Given the description of an element on the screen output the (x, y) to click on. 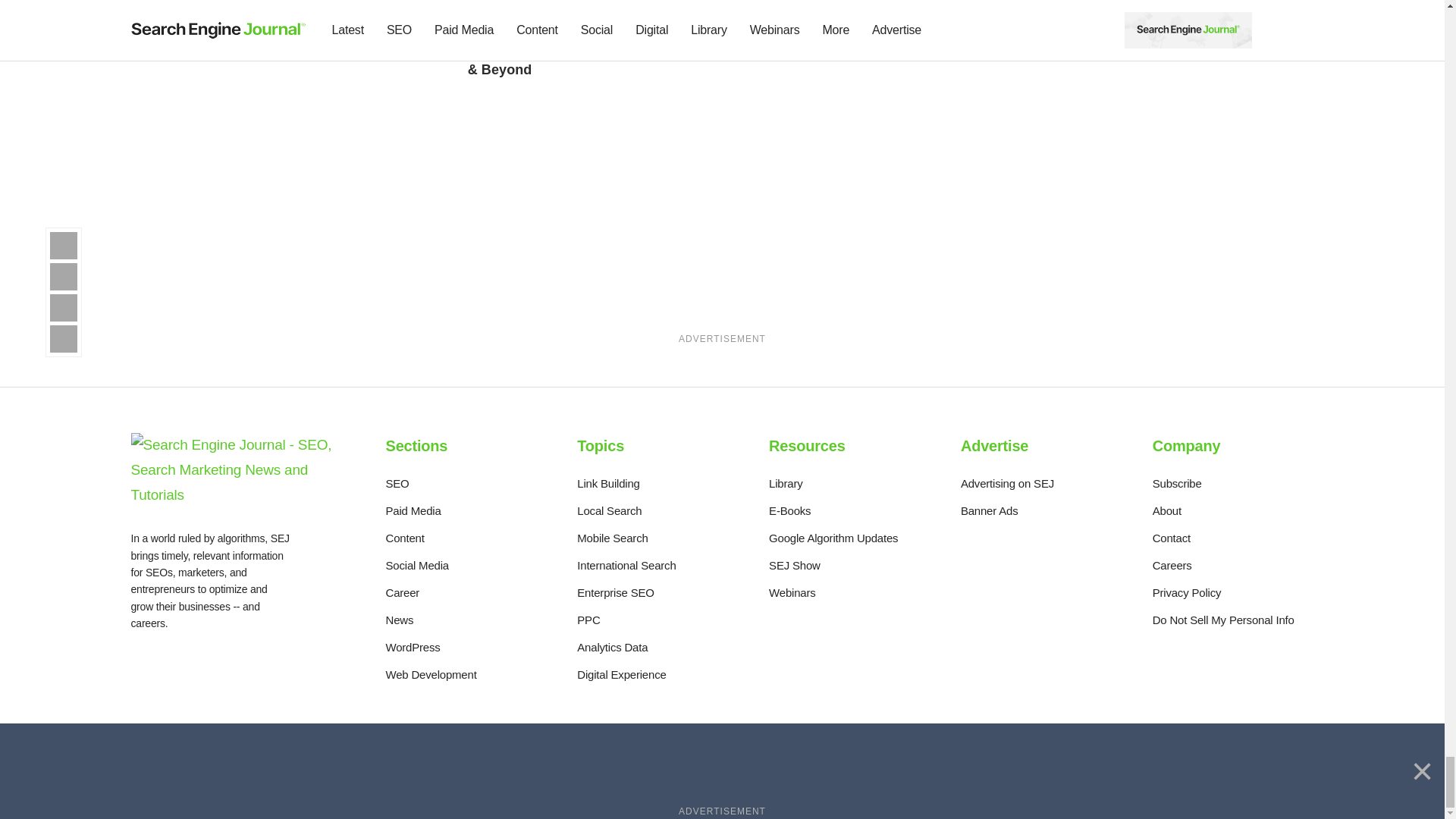
Read the Article (548, 45)
Read the Article (351, 2)
Read the Article (346, 29)
Read the Article (745, 37)
Read the Article (553, 2)
Read the Article (755, 2)
